Given the description of an element on the screen output the (x, y) to click on. 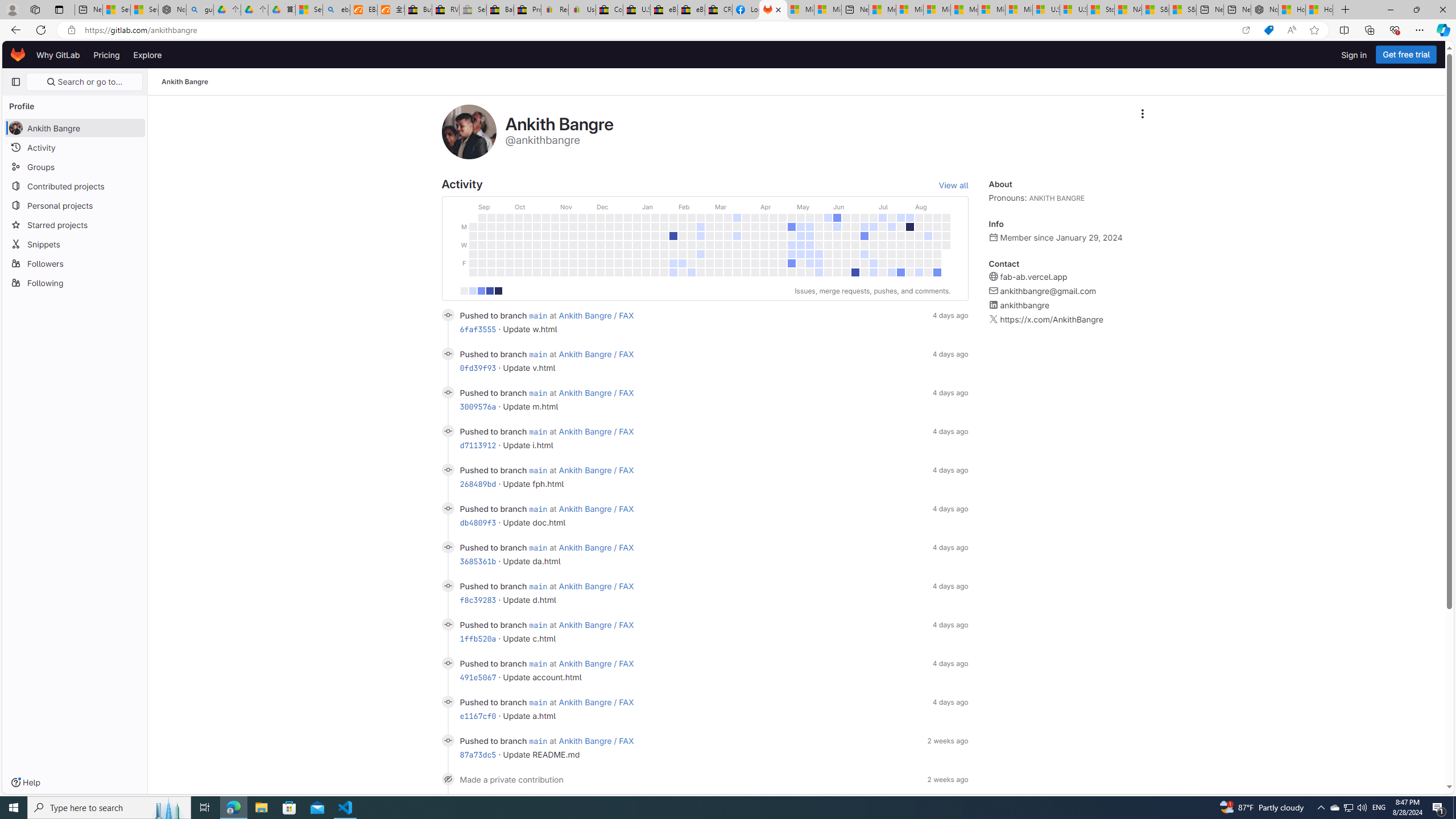
Snippets (74, 244)
